Given the description of an element on the screen output the (x, y) to click on. 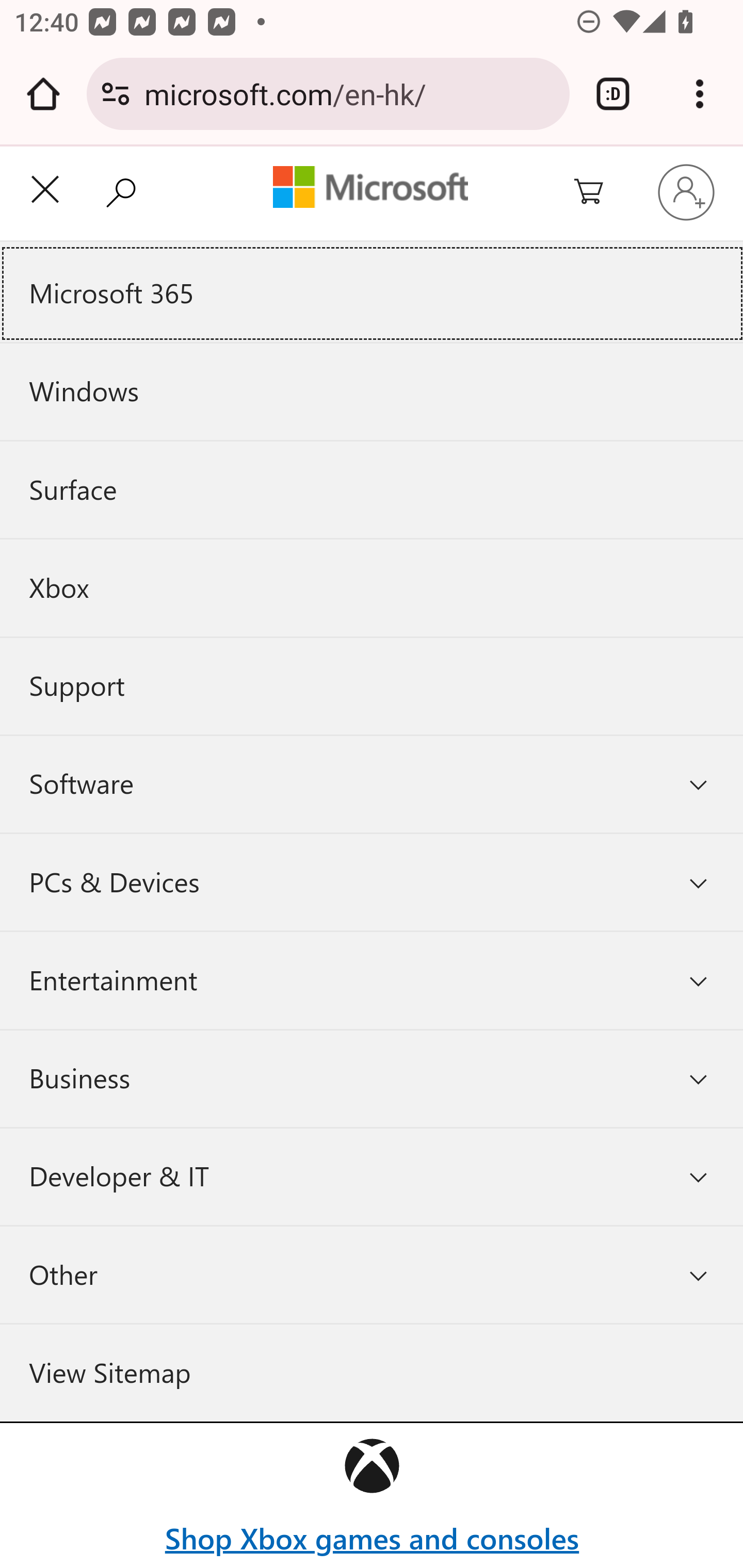
Open the home page (43, 93)
Connection is secure (115, 93)
Switch or close tabs (612, 93)
Customize and control Google Chrome (699, 93)
microsoft.com/en-hk/ (349, 92)
Close All Microsoft list (45, 192)
Microsoft (370, 188)
0 items in shopping cart  (600, 192)
Sign in to your account (686, 191)
Search Microsoft.com (126, 191)
Microsoft 365 (371, 293)
Windows (371, 391)
Surface (371, 489)
Xbox (371, 587)
Support (371, 685)
Software  (371, 784)
PCs & Devices  (371, 881)
Entertainment  (371, 979)
Business  (371, 1077)
Developer & IT  (371, 1177)
Other  (371, 1274)
View Sitemap (371, 1372)
Shop Xbox games and consoles (371, 1538)
